Given the description of an element on the screen output the (x, y) to click on. 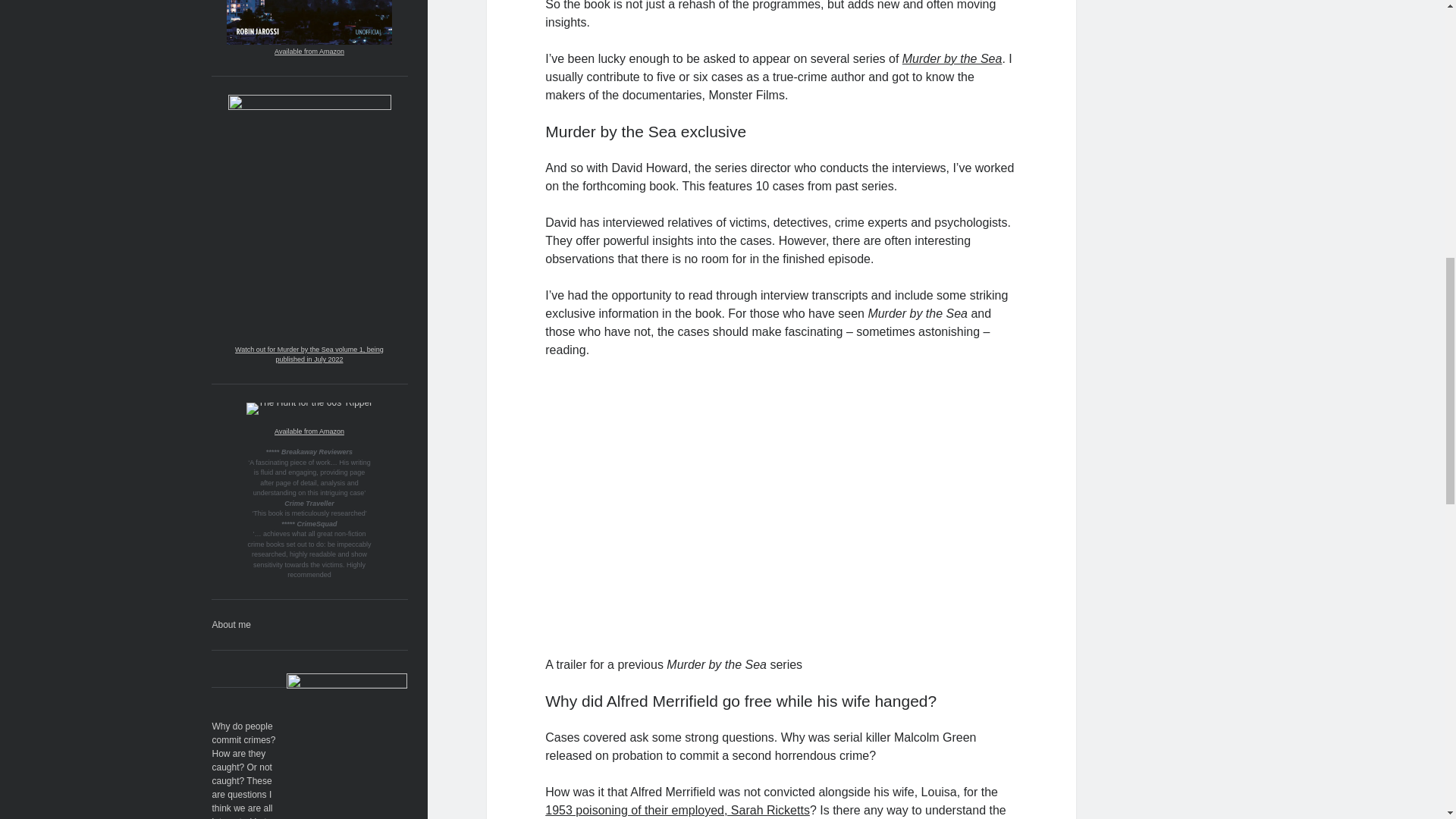
Available from Amazon (309, 430)
Murder by the Sea (952, 58)
Available from Amazon (309, 51)
1953 poisoning of their employed, Sarah Ricketts (676, 809)
